Given the description of an element on the screen output the (x, y) to click on. 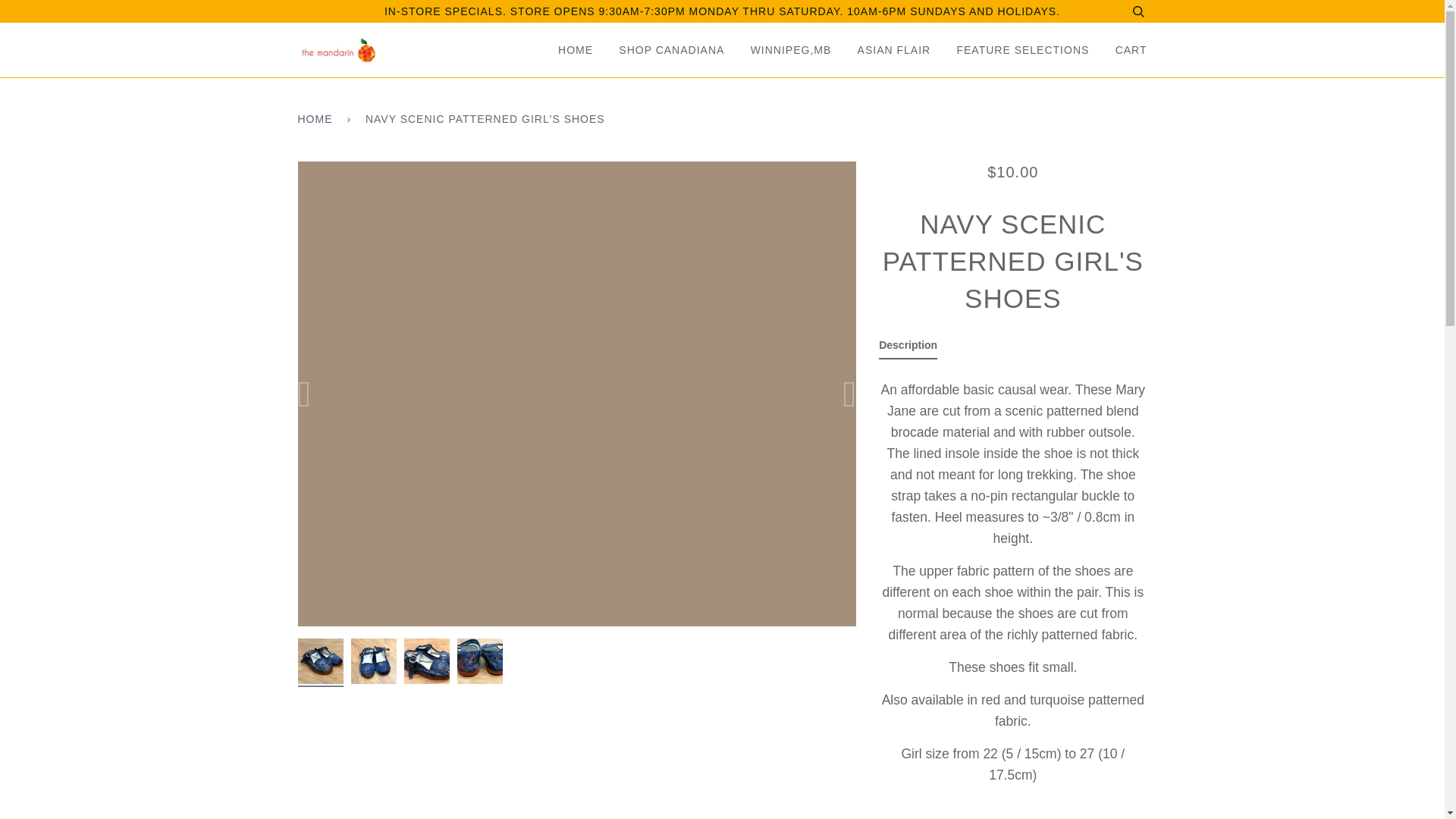
Search (1137, 11)
SHOP CANADIANA (659, 49)
Back to the frontpage (317, 119)
HOME (571, 49)
